Given the description of an element on the screen output the (x, y) to click on. 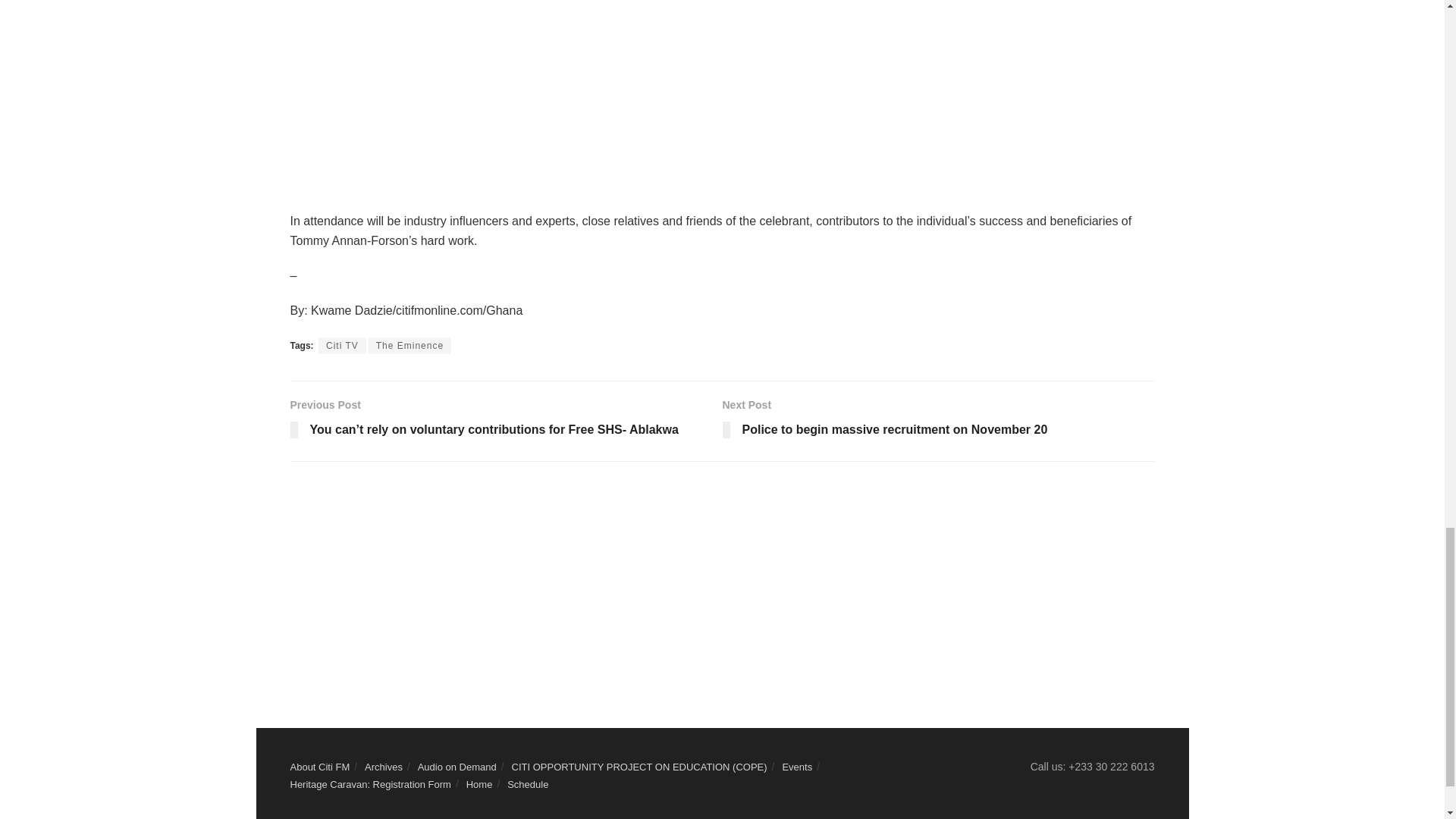
The Eminence (409, 345)
Citi TV (342, 345)
